Given the description of an element on the screen output the (x, y) to click on. 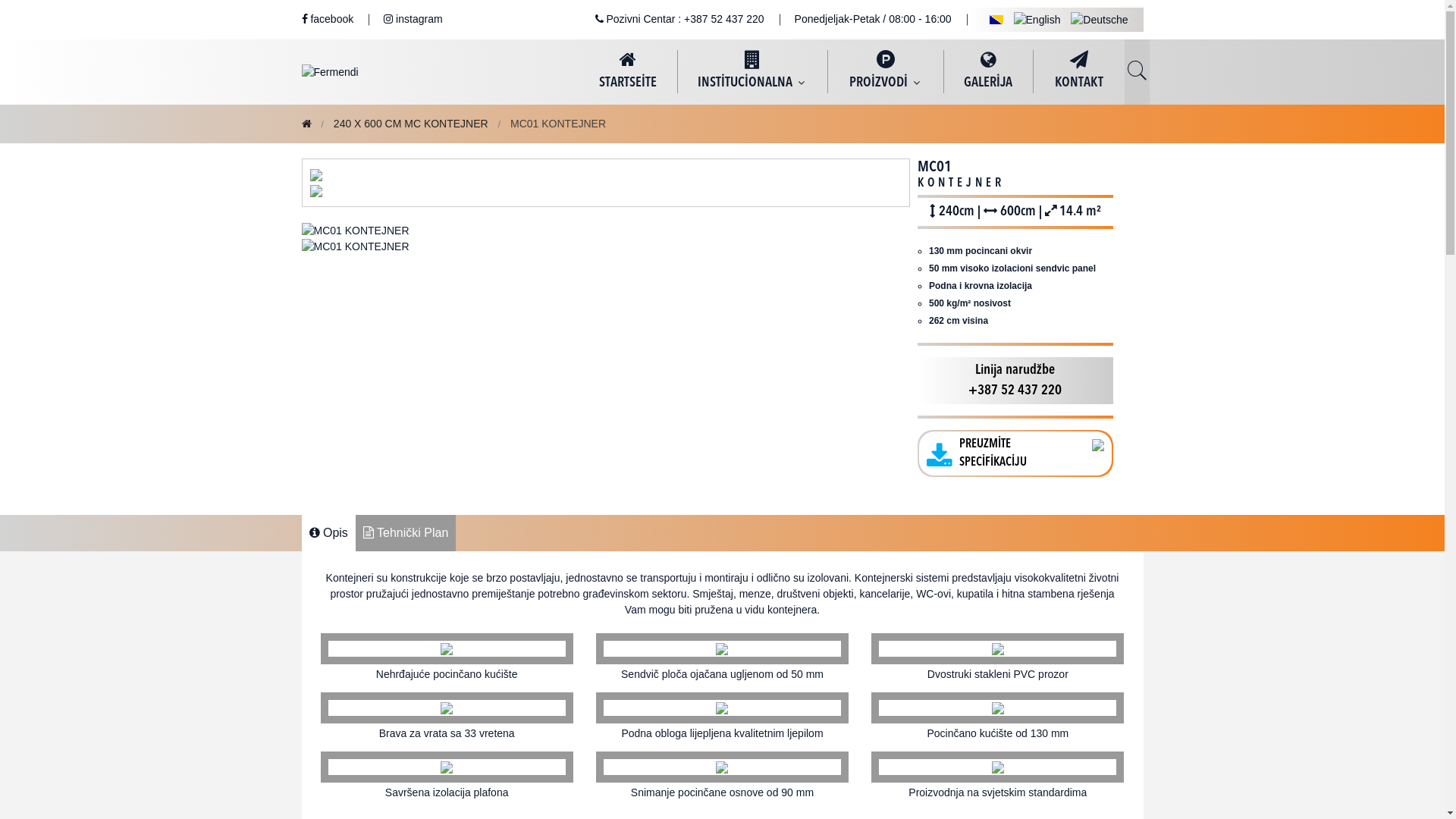
facebook Element type: text (327, 18)
Opis Element type: text (328, 532)
Deutsche Element type: hover (1098, 20)
Bosanski Element type: hover (996, 19)
240 X 600 CM MC KONTEJNER Element type: text (410, 123)
instagram Element type: text (412, 18)
Pozivni Centar : +387 52 437 220 Element type: text (679, 18)
KONTAKT Element type: text (1077, 71)
English Element type: hover (1036, 20)
Ponedjeljak-Petak / 08:00 - 16:00 Element type: text (872, 18)
